Given the description of an element on the screen output the (x, y) to click on. 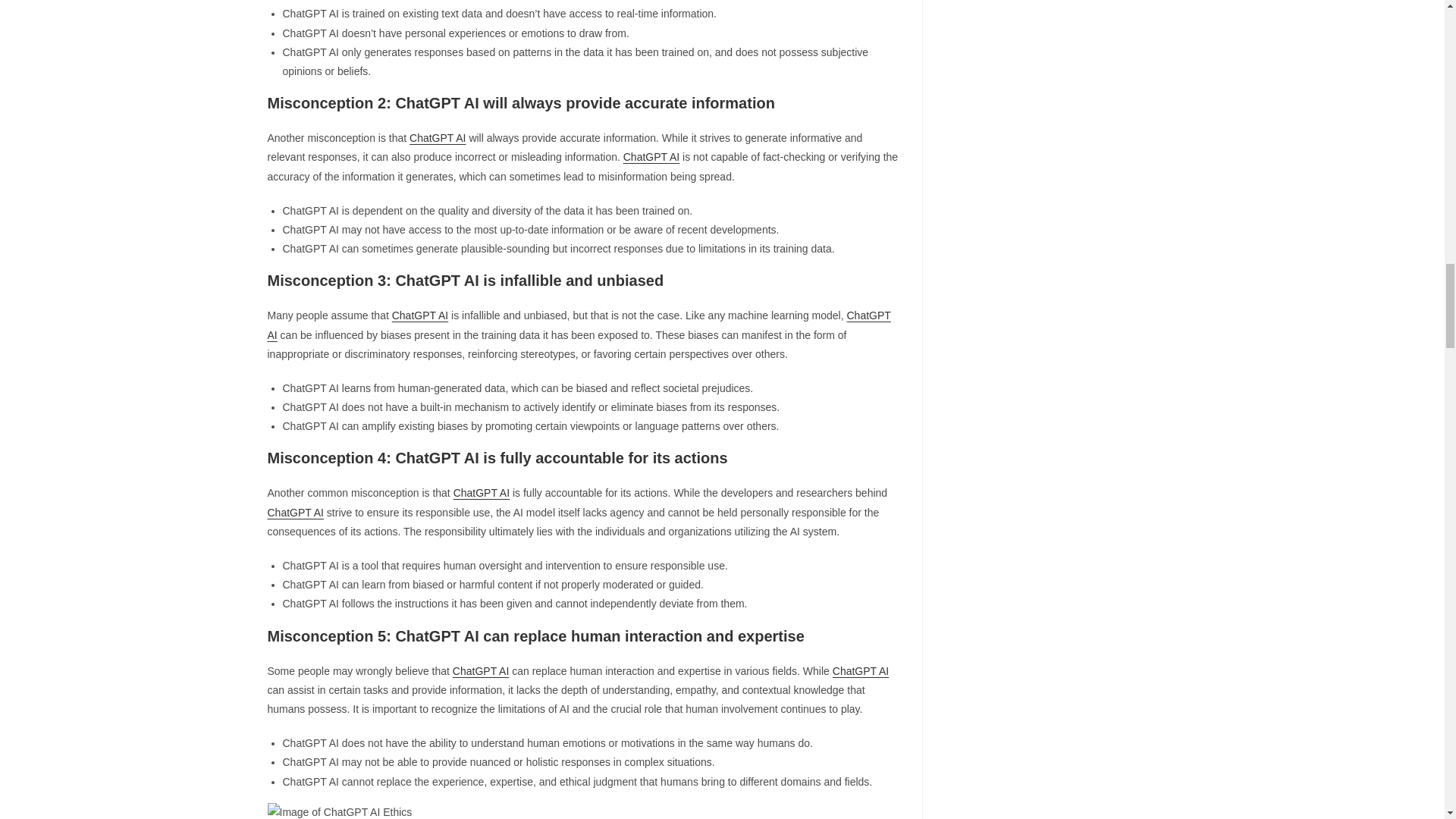
ChatGPT AI (651, 156)
ChatGPT AI (480, 492)
ChatGPT AI (860, 671)
ChatGPT AI (577, 324)
ChatGPT AI (294, 512)
ChatGPT AI (480, 671)
ChatGPT AI (419, 315)
ChatGPT AI Ethics (339, 811)
ChatGPT AI (437, 137)
